Given the description of an element on the screen output the (x, y) to click on. 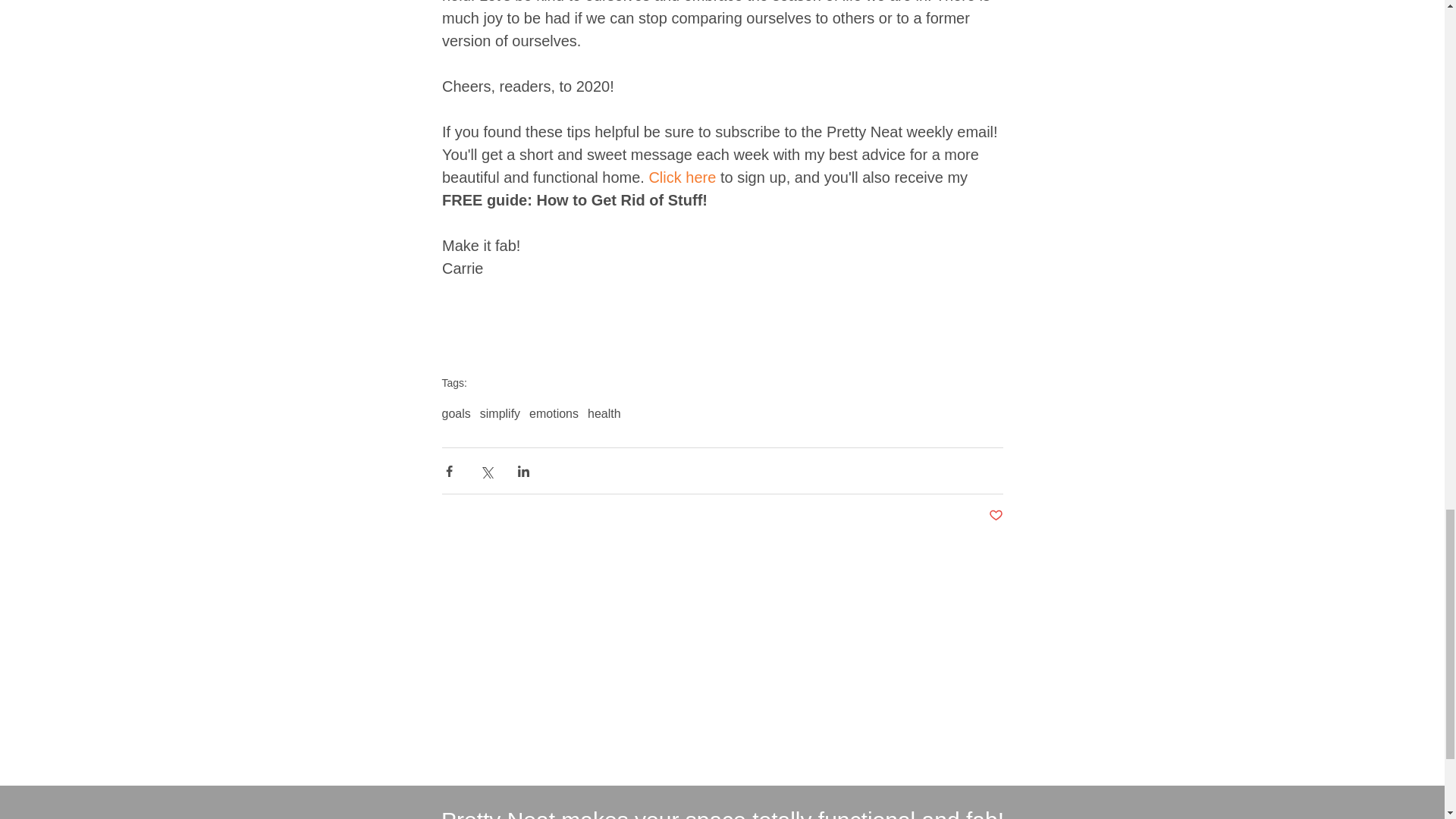
goals (455, 413)
Click here (681, 176)
Post not marked as liked (995, 515)
emotions (553, 413)
simplify (499, 413)
health (604, 413)
